Given the description of an element on the screen output the (x, y) to click on. 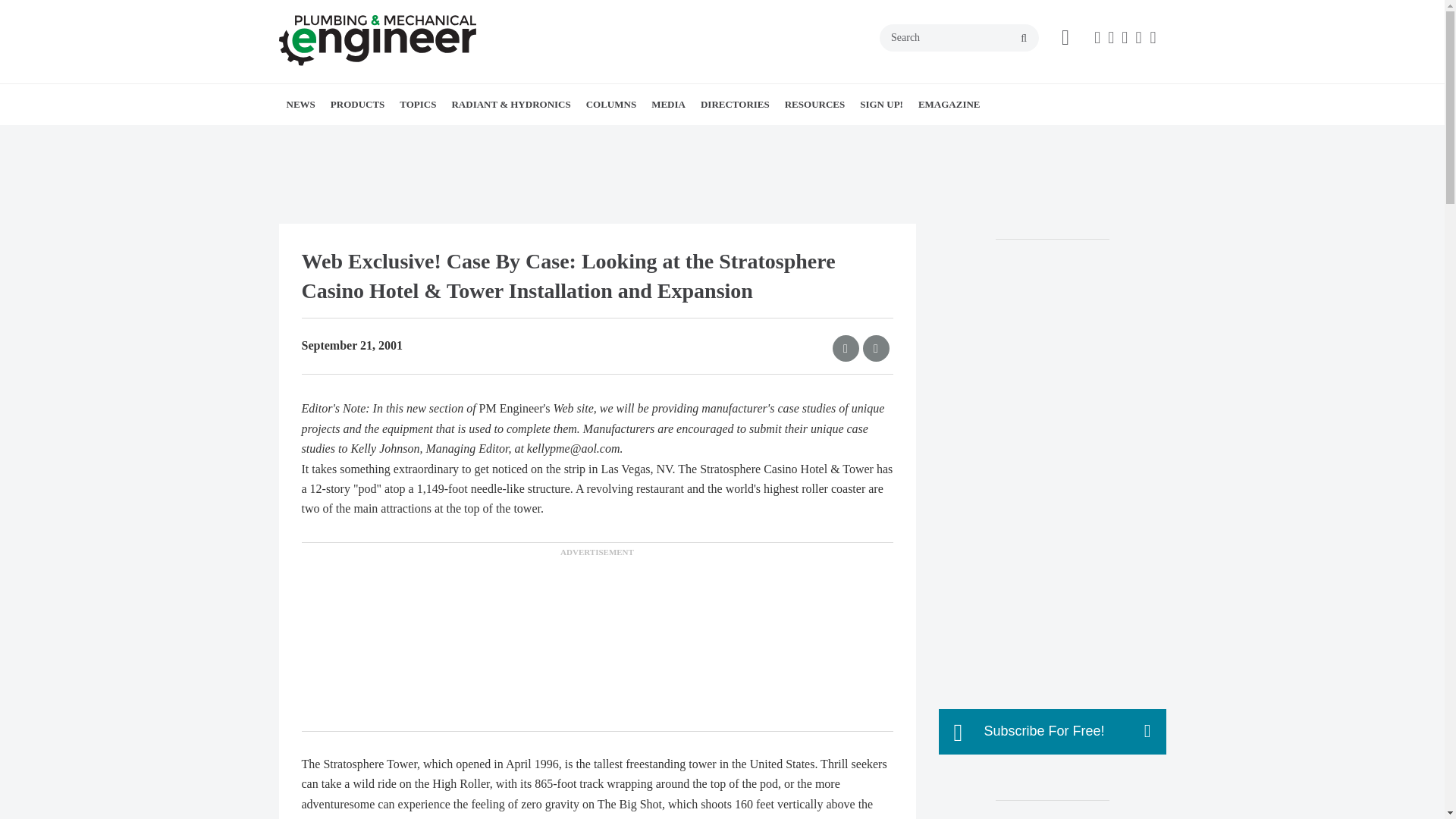
LOWELL MANALO (691, 137)
Search (959, 37)
TECHNOLOGY (526, 137)
CODES (493, 137)
GREEN MECHANICAL SYSTEMS (509, 137)
PRODUCTS (358, 104)
CHRISTOPH LOHR (704, 137)
JAMES DIPPING (685, 137)
GREEN PLUMBING (513, 137)
DAN HOLOHAN (699, 137)
